Given the description of an element on the screen output the (x, y) to click on. 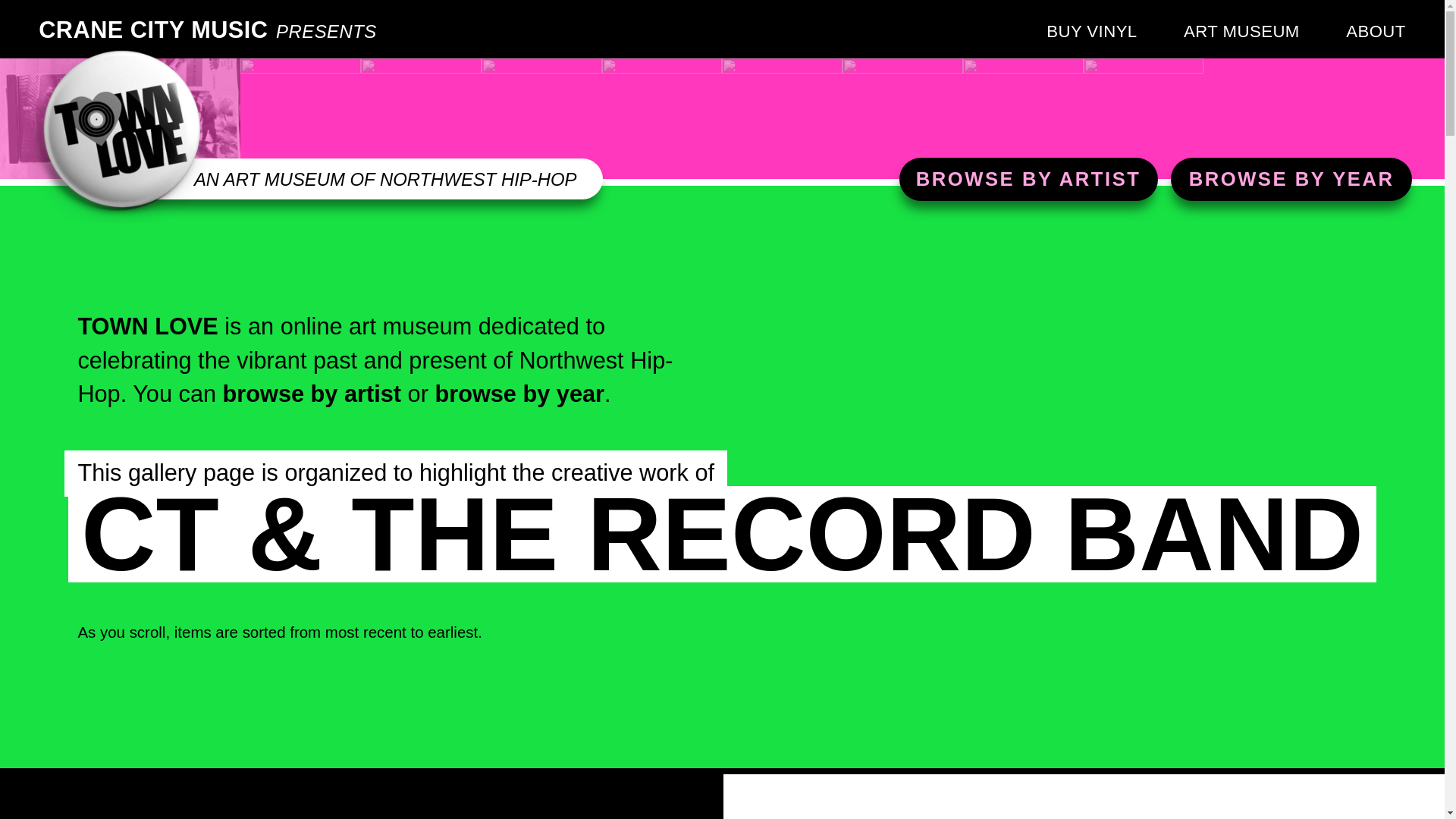
browse by year (518, 393)
browse by artist (311, 393)
BROWSE BY ARTIST (1028, 178)
ART MUSEUM (1241, 31)
CRANE CITY MUSIC (153, 29)
ABOUT (1375, 31)
BUY VINYL (1091, 31)
BROWSE BY YEAR (1291, 178)
AN ART MUSEUM OF NORTHWEST HIP-HOP (384, 178)
